Given the description of an element on the screen output the (x, y) to click on. 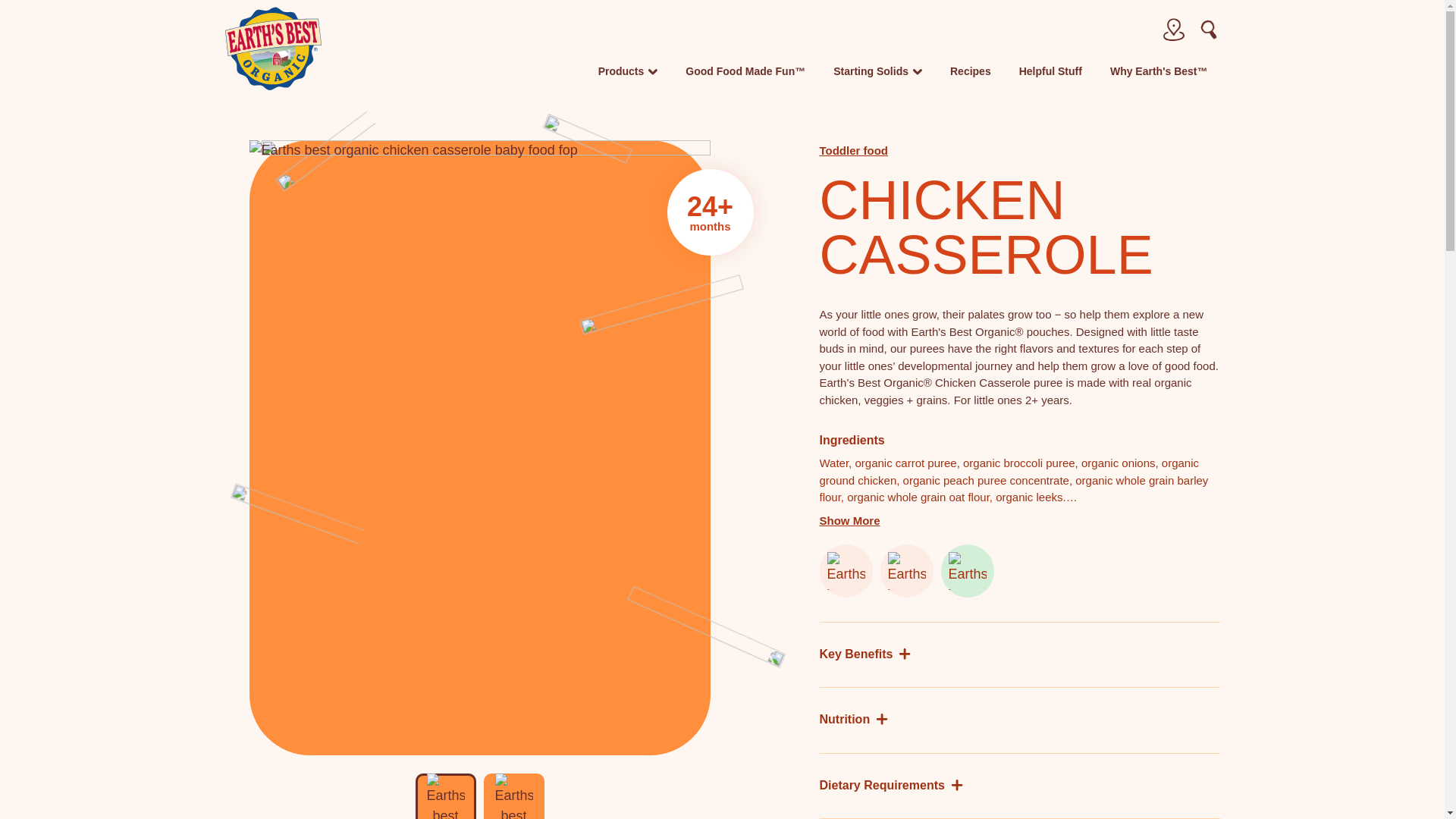
Recipes (970, 77)
Show More (848, 520)
Toddler food (853, 150)
Helpful Stuff (1050, 77)
Products (628, 77)
Starting Solids (876, 77)
